Given the description of an element on the screen output the (x, y) to click on. 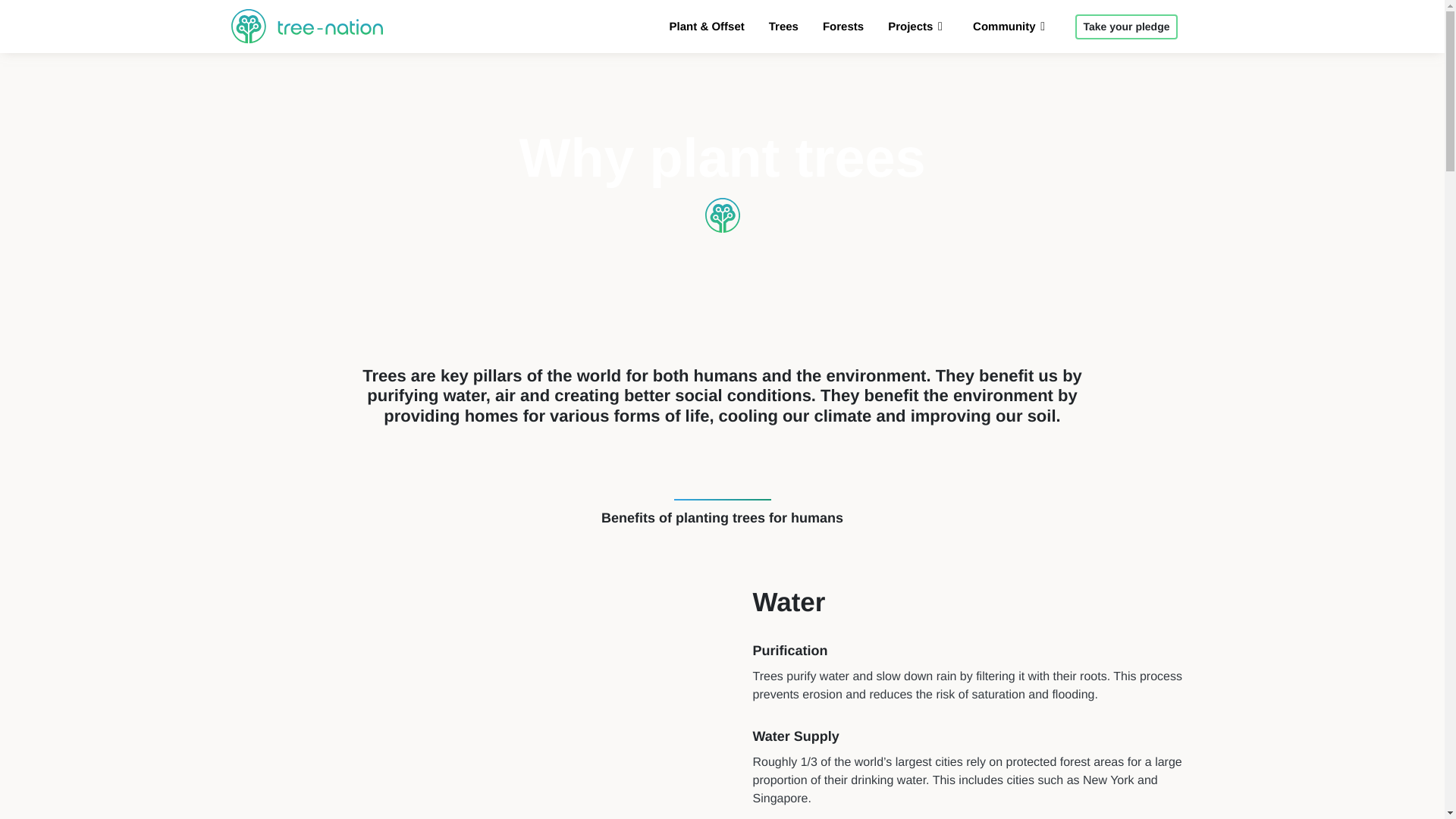
Projects (918, 26)
Trees (782, 26)
Forests (842, 26)
Community (1011, 26)
Take your pledge (1125, 26)
